Given the description of an element on the screen output the (x, y) to click on. 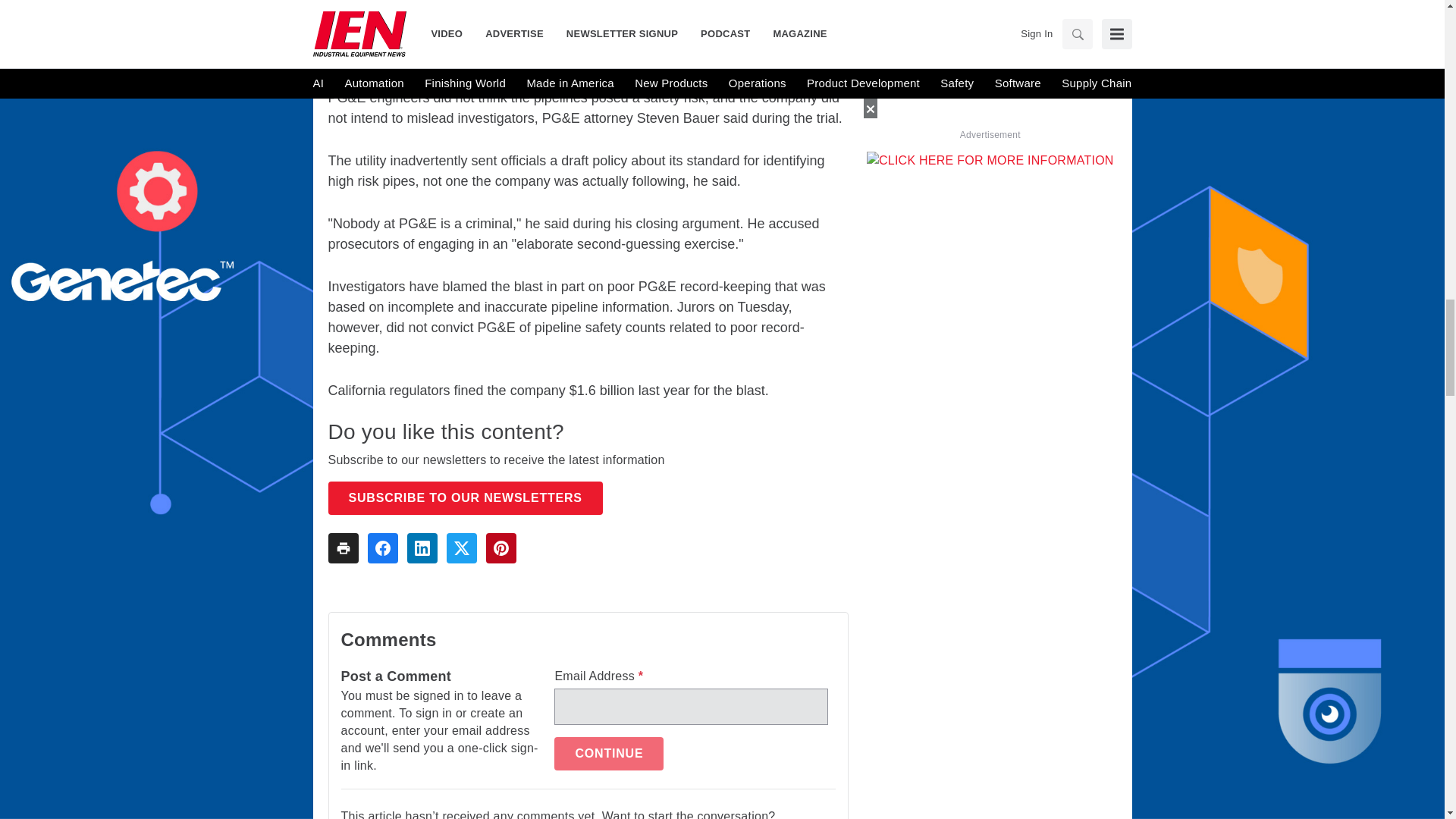
Share To facebook (381, 548)
Share To linkedin (421, 548)
Share To print (342, 548)
